Given the description of an element on the screen output the (x, y) to click on. 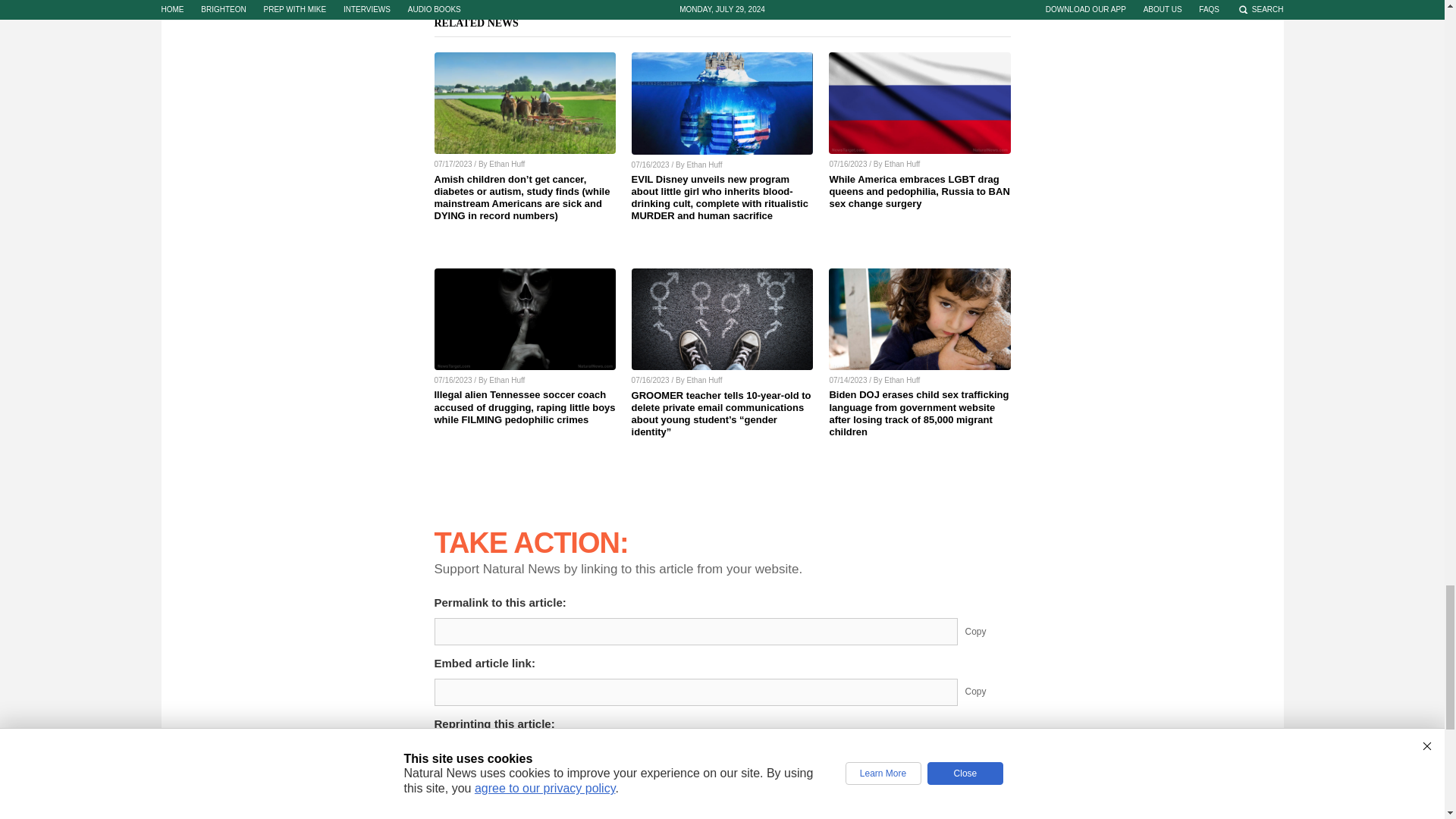
Copy Permalink (986, 631)
Copy Embed Link (986, 691)
